Given the description of an element on the screen output the (x, y) to click on. 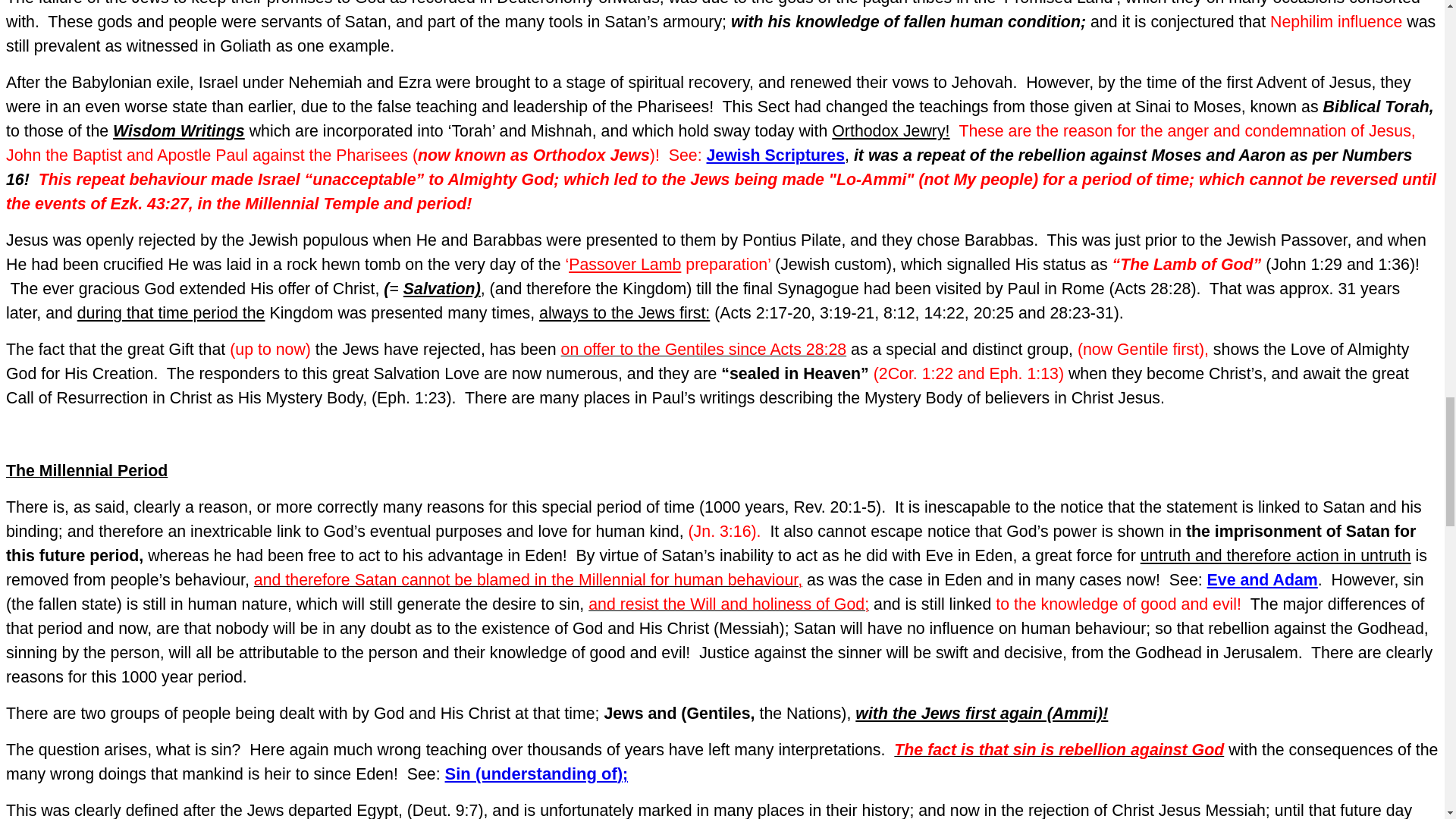
Eve and Adam (1262, 579)
Jewish Scriptures (775, 155)
Eve and Adam (1262, 579)
